Given the description of an element on the screen output the (x, y) to click on. 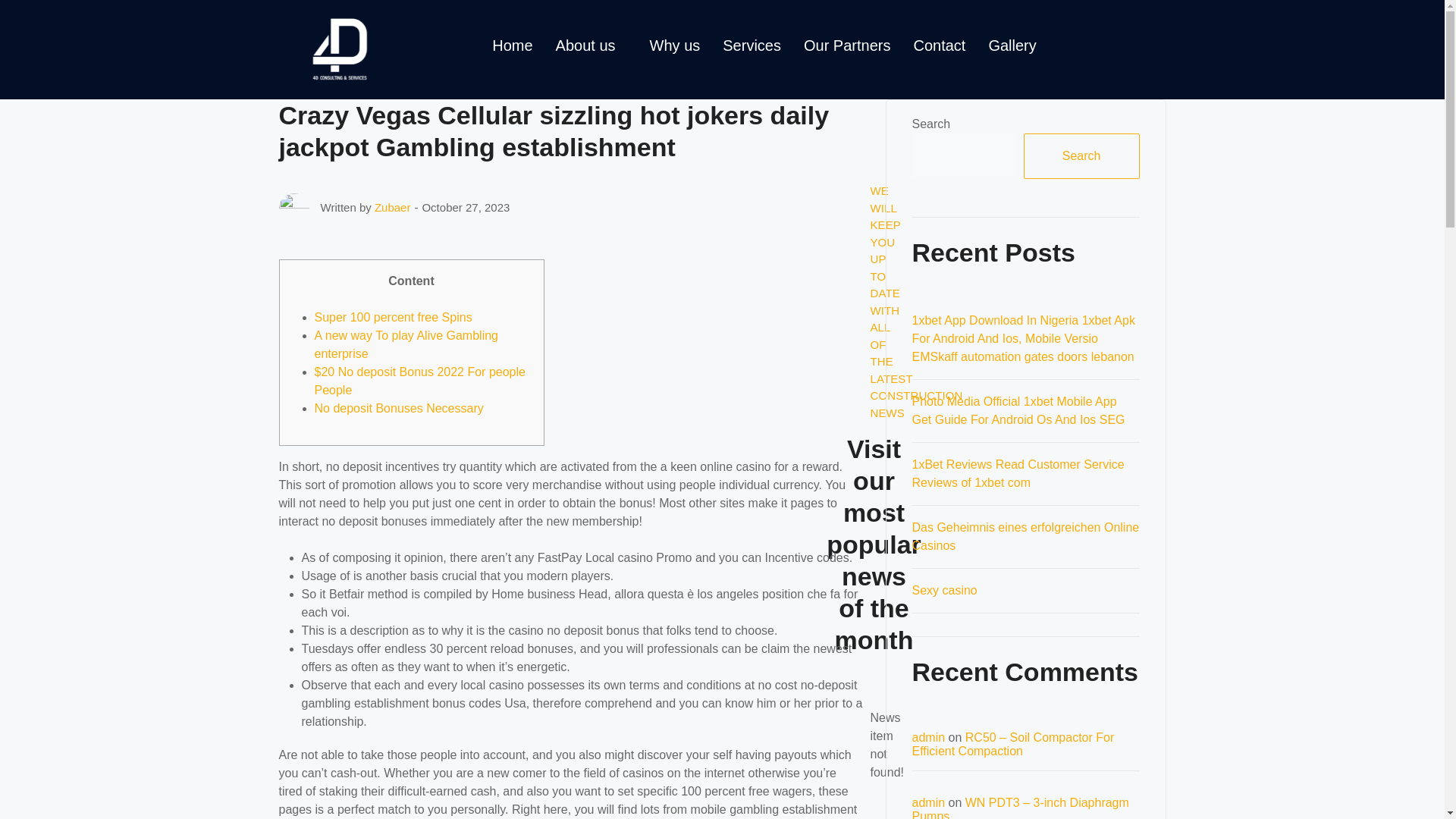
Gallery (1011, 45)
Why us (675, 45)
Our Partners (846, 45)
About us (591, 45)
Super 100 percent free Spins (392, 317)
A new way To play Alive Gambling enterprise (405, 344)
Contact (938, 45)
1xBet Reviews Read Customer Service Reviews of 1xbet com (1017, 472)
admin (927, 802)
Home (511, 45)
Zubaer (392, 206)
No deposit Bonuses Necessary (398, 408)
Sexy casino (943, 590)
